Given the description of an element on the screen output the (x, y) to click on. 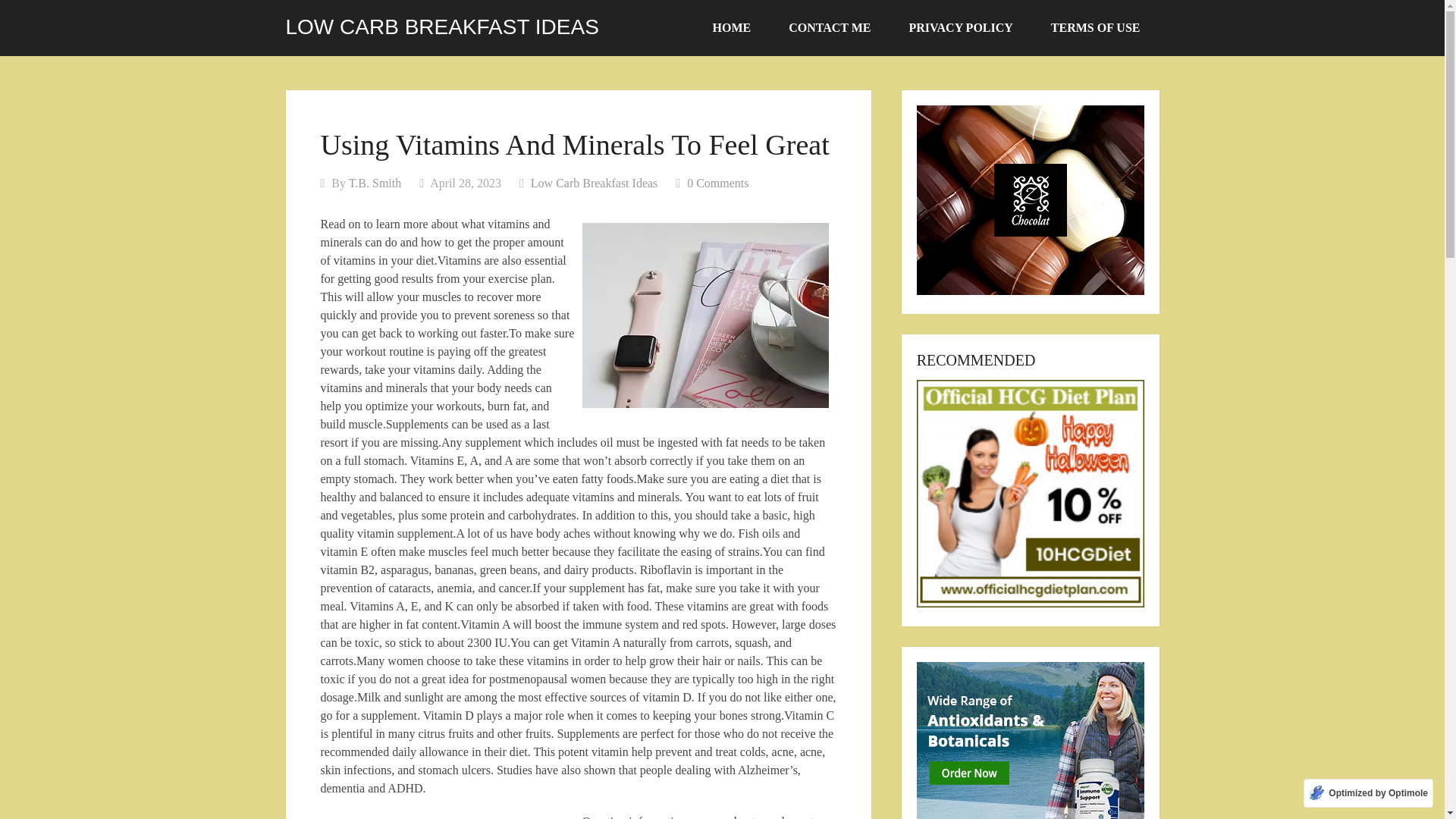
Posts by T.B. Smith (375, 182)
CONTACT ME (829, 28)
HOME (732, 28)
Low Carb Breakfast Ideas (594, 182)
TERMS OF USE (1095, 28)
T.B. Smith (375, 182)
LOW CARB BREAKFAST IDEAS (441, 26)
Using Vitamins And Minerals To Feel Great (705, 314)
PRIVACY POLICY (960, 28)
0 Comments (717, 182)
Optimized by Optimole (1367, 792)
